Given the description of an element on the screen output the (x, y) to click on. 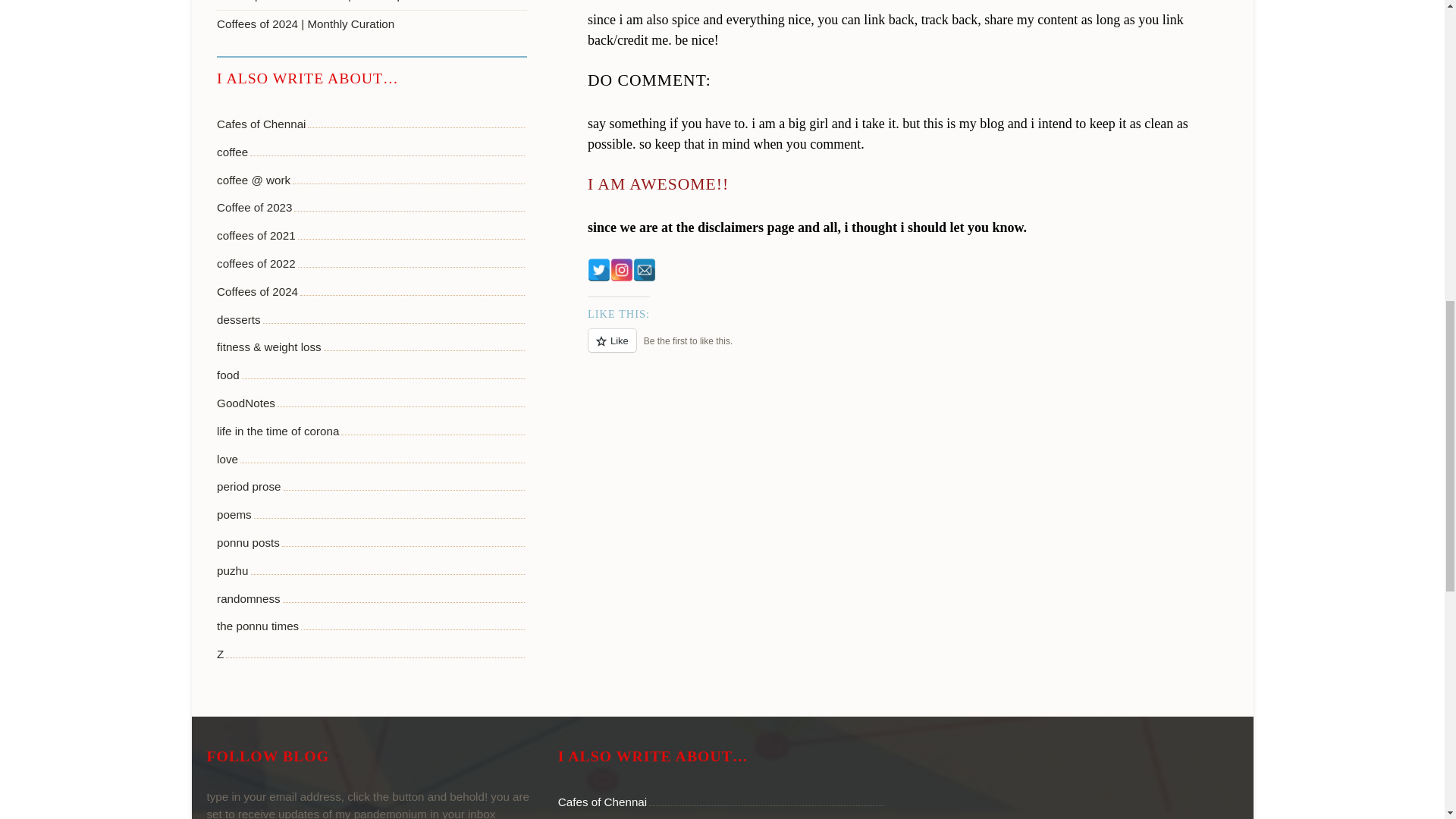
coffee (231, 152)
Twitter (599, 269)
Coffee of 2023 (254, 207)
Instagram (621, 269)
coffees of 2022 (255, 264)
Cafes of Chennai (260, 124)
Like or Reblog (913, 349)
desserts (238, 320)
Coffees of 2024 (257, 292)
Email (644, 269)
